Given the description of an element on the screen output the (x, y) to click on. 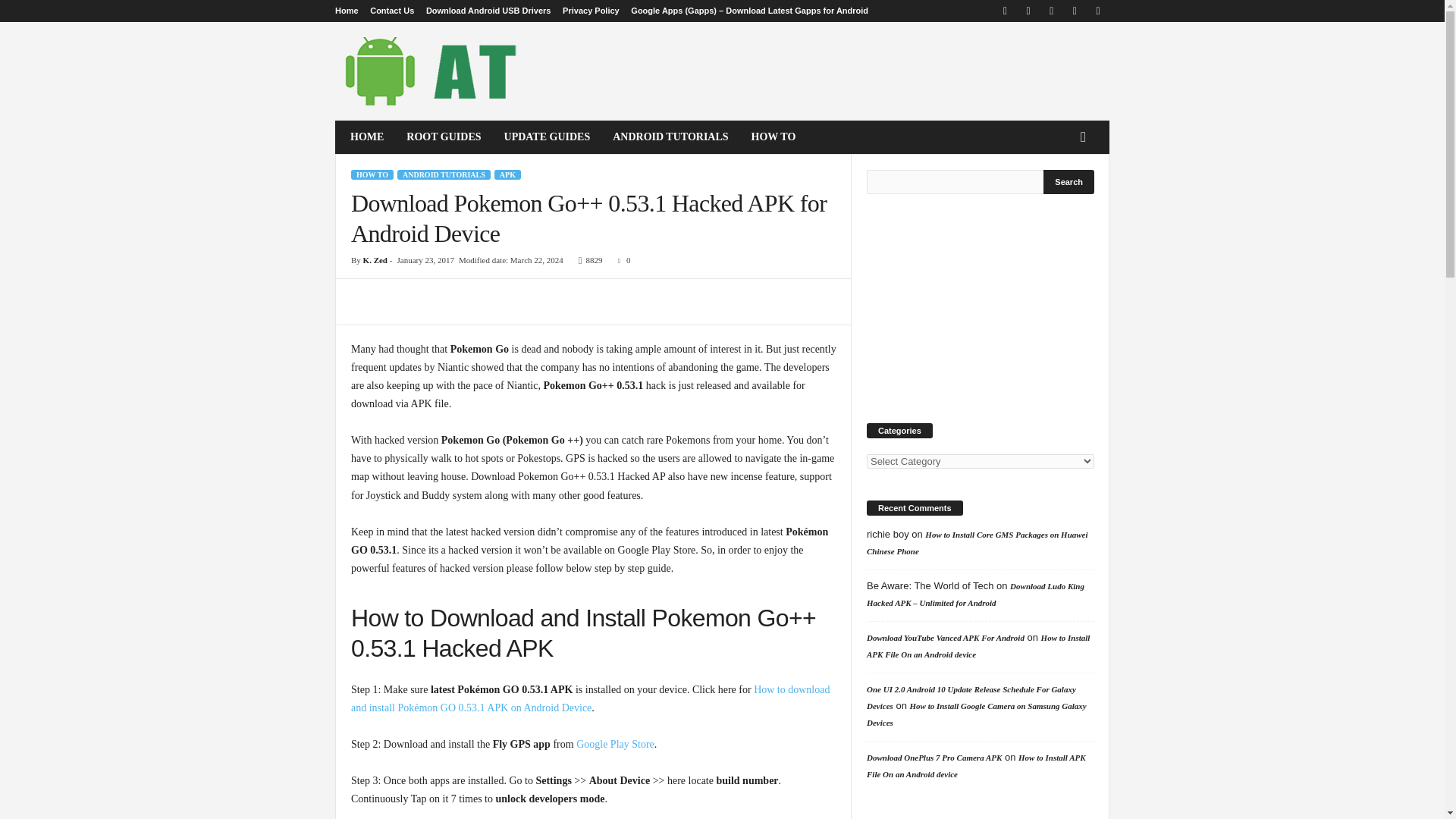
HOW TO (371, 174)
Privacy Policy (591, 10)
Search (1068, 181)
ROOT GUIDES (443, 136)
ANDROID TUTORIALS (670, 136)
Download Android USB Drivers (488, 10)
K. Zed (374, 259)
UPDATE GUIDES (547, 136)
Home (346, 10)
Android Tutorial (437, 70)
Contact Us (391, 10)
HOW TO (773, 136)
0 (620, 259)
ANDROID TUTORIALS (443, 174)
APK (508, 174)
